Given the description of an element on the screen output the (x, y) to click on. 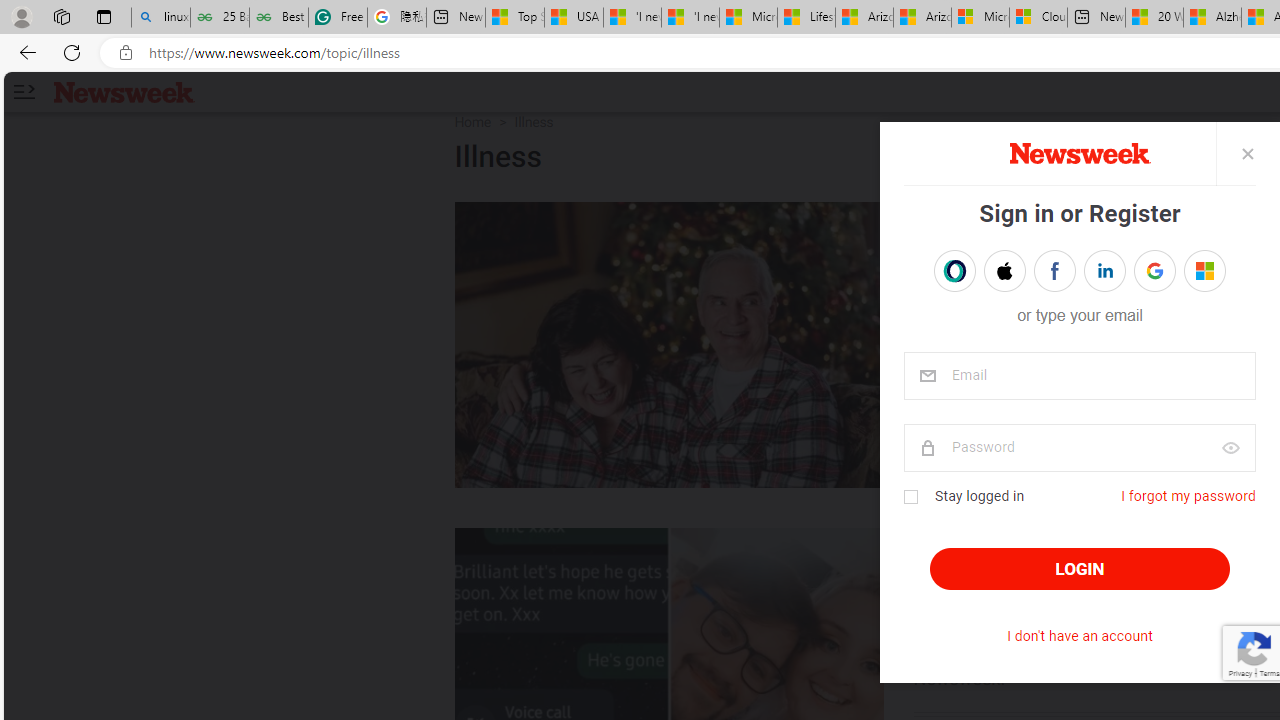
linux basic - Search (160, 17)
Microsoft (1204, 270)
Top Stories - MSN (514, 17)
Sign in with OPENPASS (954, 270)
Eugene (1191, 271)
MY TURN (963, 222)
Free AI Writing Assistance for Students | Grammarly (337, 17)
Sign in as Eugene EugeneLedger601@outlook.com (1204, 270)
password (1078, 448)
Sign in with FACEBOOK (1054, 270)
Best SSL Certificates Provider in India - GeeksforGeeks (278, 17)
I forgot my password (1187, 496)
